Given the description of an element on the screen output the (x, y) to click on. 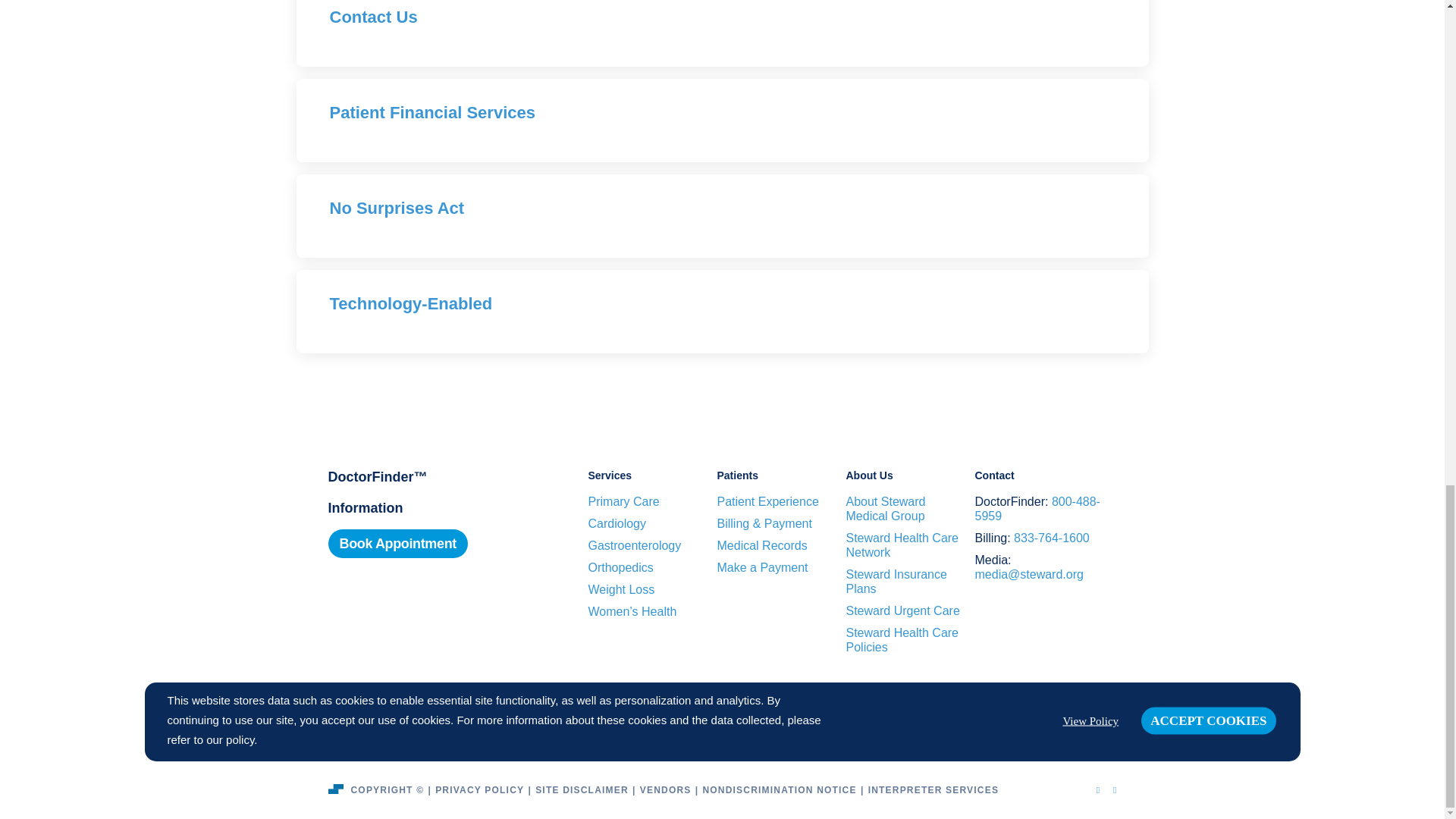
Gastroenterology (634, 545)
Patient Financial Services (431, 112)
Book Appointment (397, 543)
Orthopedics (620, 567)
Weight Loss (621, 589)
Contact Us (372, 16)
Primary Care (623, 501)
Information (365, 507)
Technology-Enabled (410, 303)
Cardiology (617, 522)
No Surprises Act (396, 208)
